Given the description of an element on the screen output the (x, y) to click on. 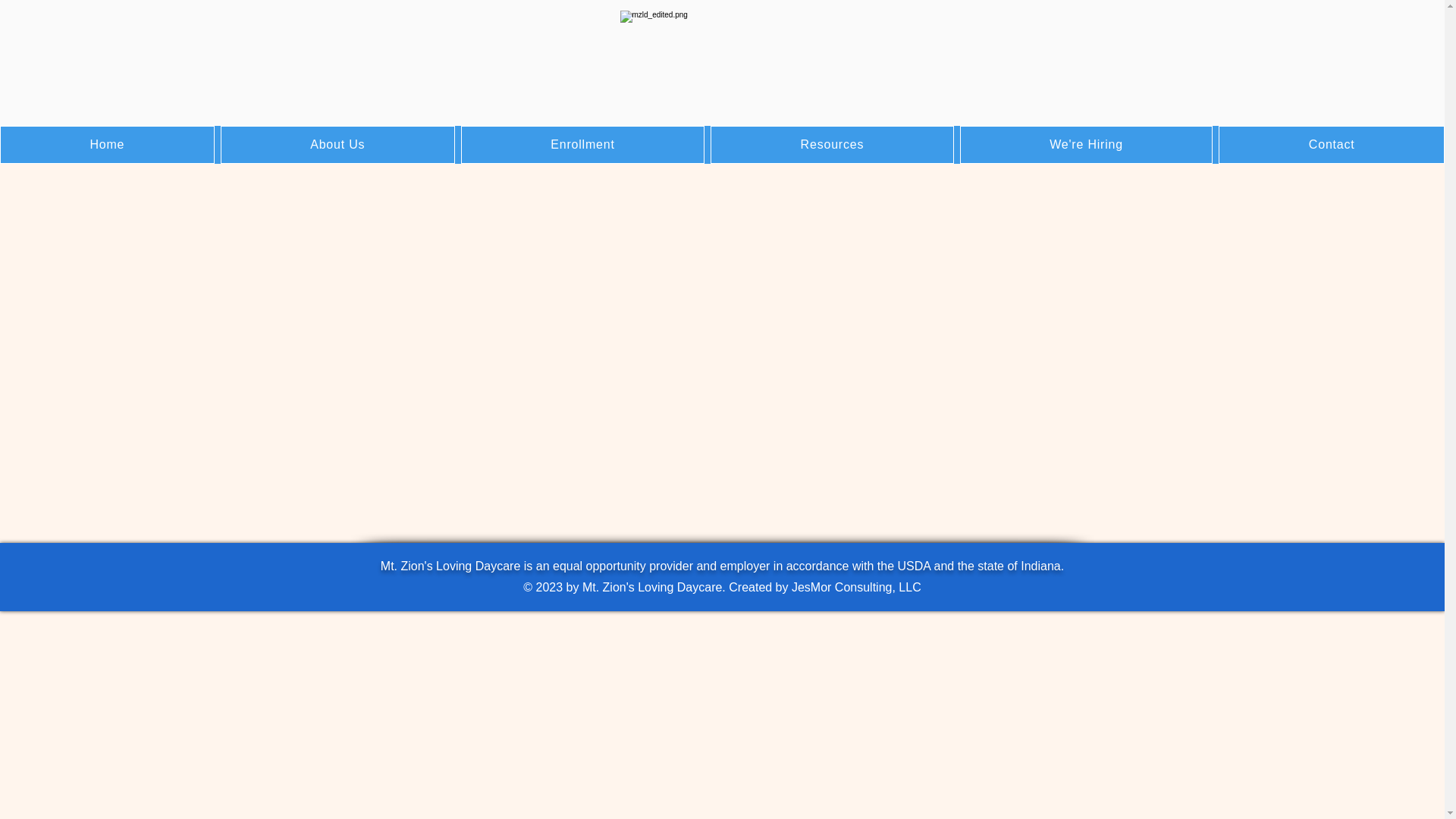
About Us (337, 144)
Home (107, 144)
We're Hiring (1085, 144)
Resources (831, 144)
Enrollment (582, 144)
